Given the description of an element on the screen output the (x, y) to click on. 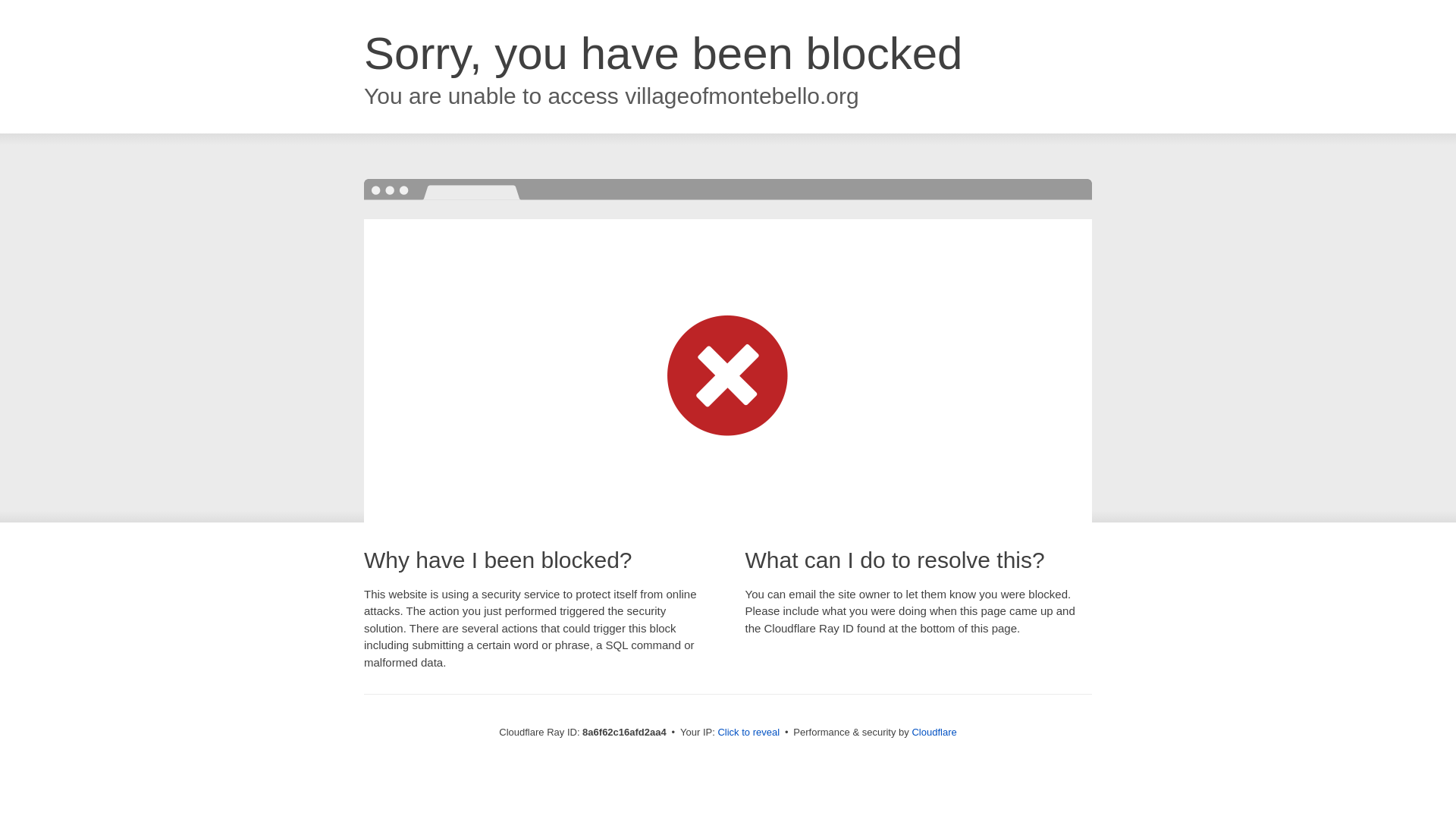
Click to reveal (747, 732)
Cloudflare (933, 731)
